Given the description of an element on the screen output the (x, y) to click on. 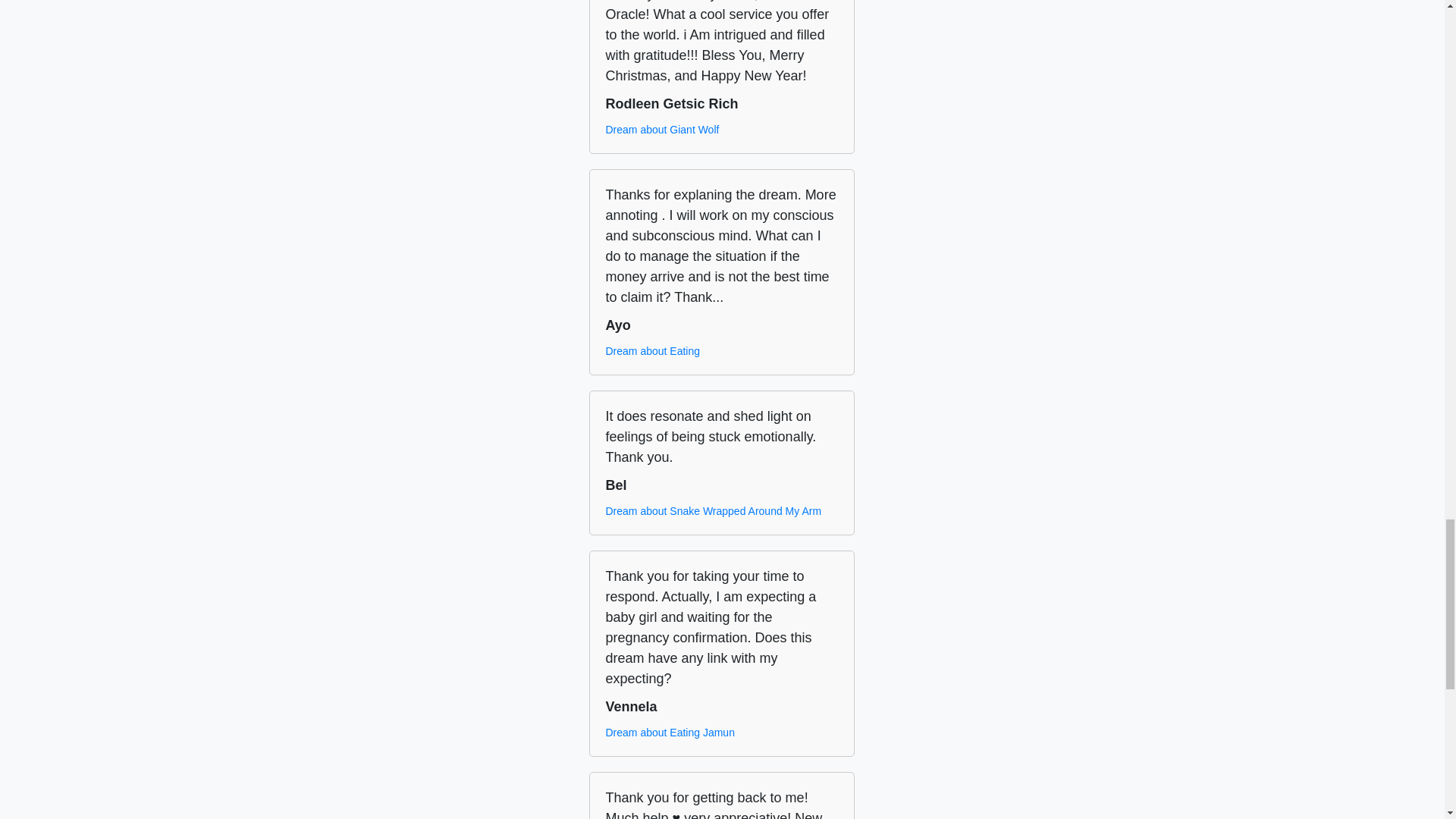
Dream about Eating Jamun (669, 732)
Dream about Snake Wrapped Around My Arm (713, 511)
Dream about Eating (652, 351)
Dream about Giant Wolf (662, 130)
